Given the description of an element on the screen output the (x, y) to click on. 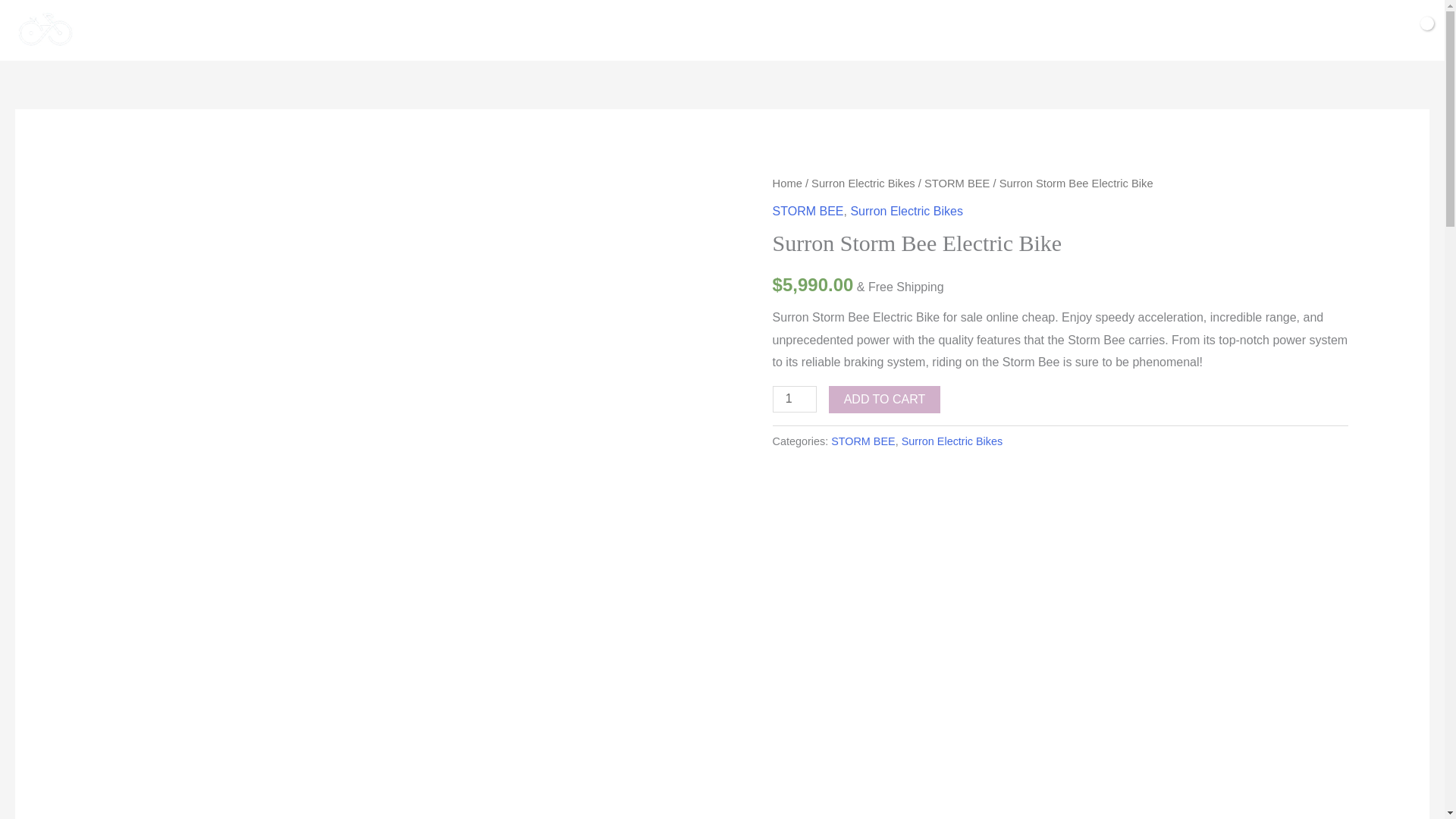
ACCESSORIES (775, 30)
1 (794, 398)
STORM BEE (808, 210)
SHOP NOW (673, 30)
STORM BEE (957, 183)
ABOUT US (874, 30)
SURRON ELECTRIC BIKES (537, 30)
Surron Electric Bikes (952, 440)
BLOG (945, 30)
STORM BEE (863, 440)
Surron Electric Bikes (906, 210)
Surron Electric Bikes (862, 183)
HOME (417, 30)
Home (787, 183)
ADD TO CART (884, 399)
